Given the description of an element on the screen output the (x, y) to click on. 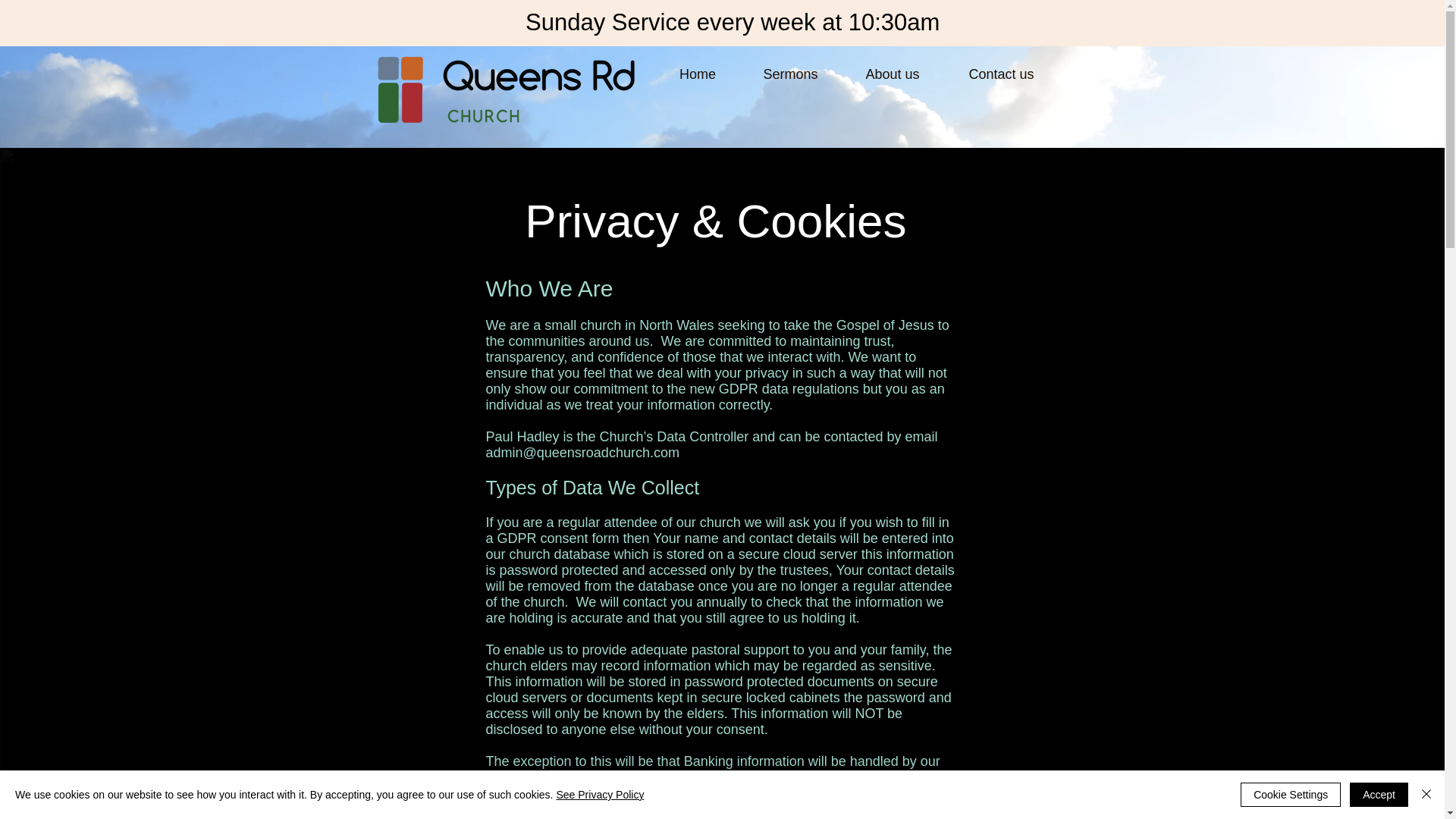
Accept (1378, 794)
About us (892, 74)
Sermons (790, 74)
Cookie Settings (1290, 794)
See Privacy Policy (599, 794)
Sunday Service every week at 10:30am  (735, 22)
Home (697, 74)
Contact us (1000, 74)
